Given the description of an element on the screen output the (x, y) to click on. 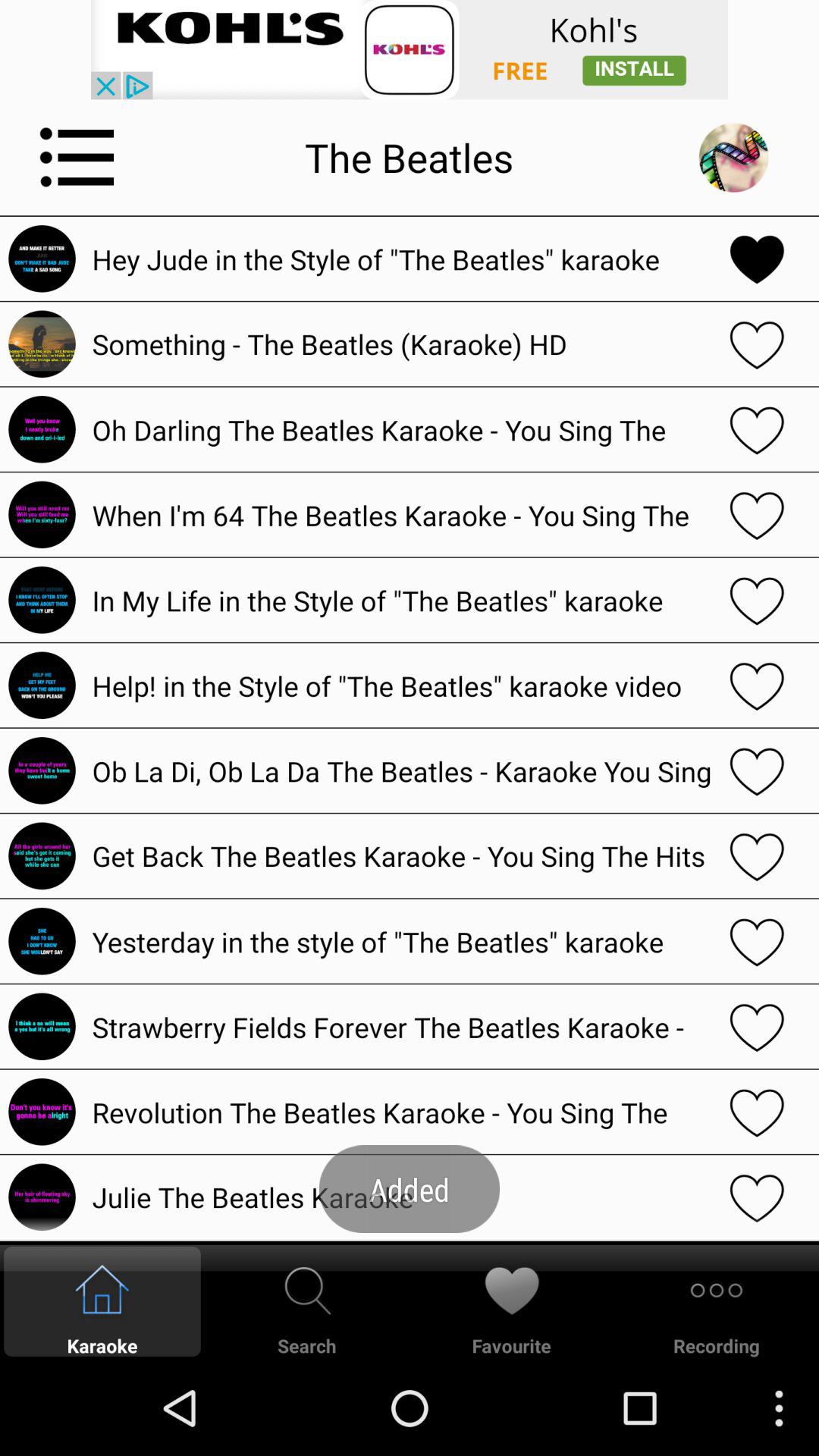
add to favorites (756, 1111)
